Given the description of an element on the screen output the (x, y) to click on. 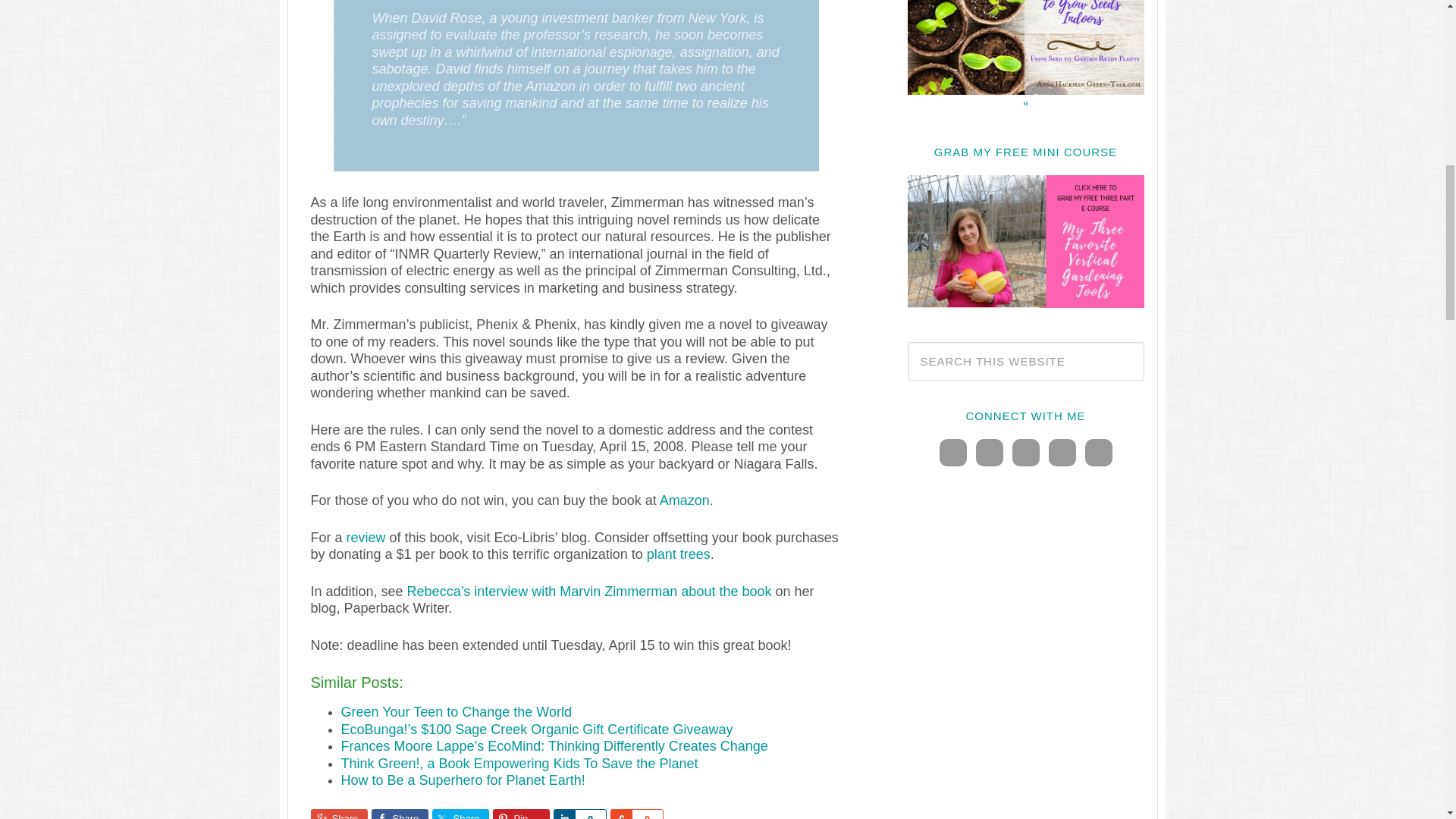
Think Green!, a Book Empowering Kids To Save the Planet (519, 763)
Think Green!, a Book Empowering Kids To Save the Planet (519, 763)
Green Your Teen to Change the World (456, 711)
Amazon (684, 500)
Green Your Teen to Change the World (456, 711)
review (365, 537)
How to Be a Superhero for Planet Earth! (462, 780)
plant trees (678, 554)
